Given the description of an element on the screen output the (x, y) to click on. 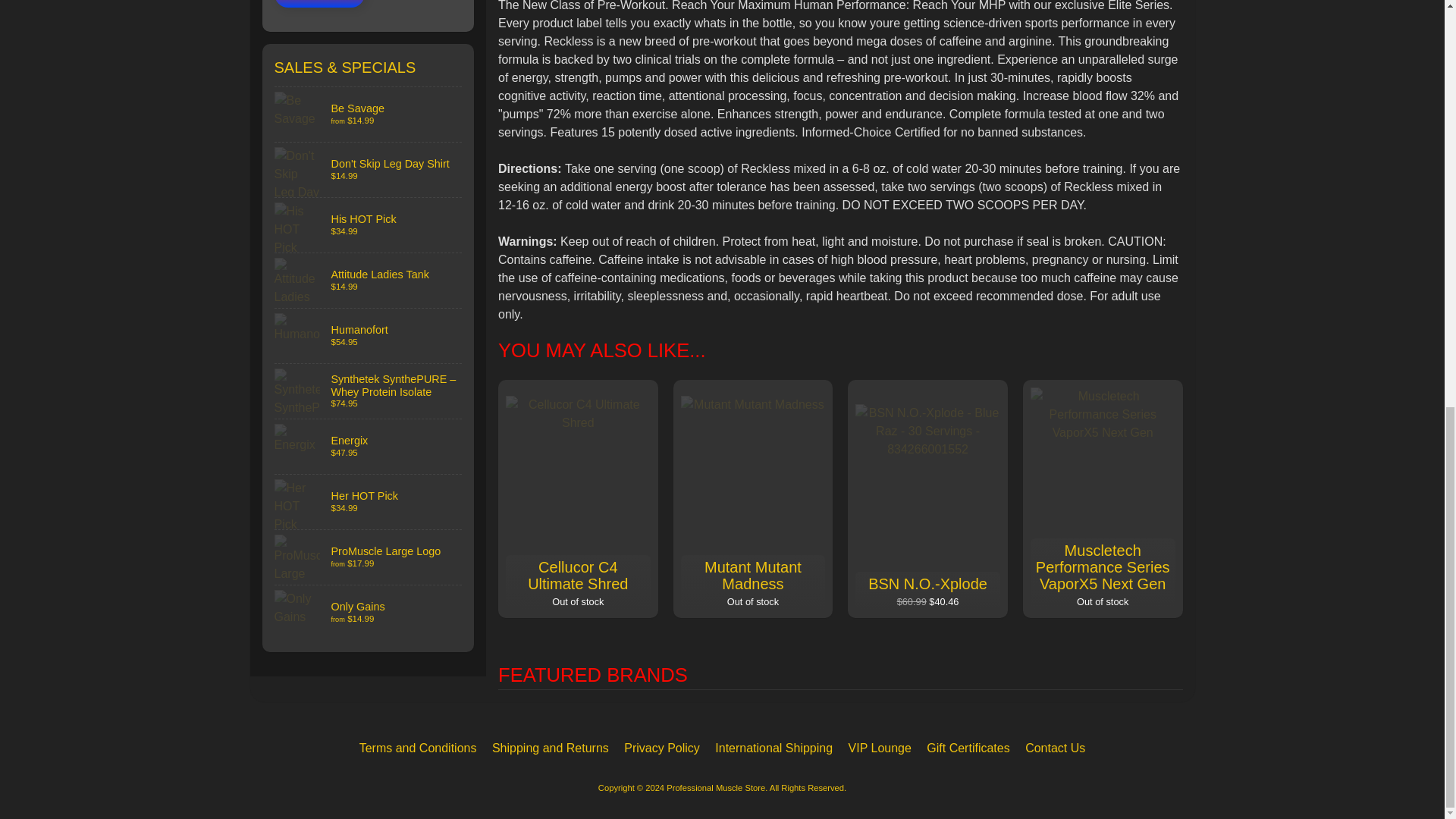
Her HOT Pick (369, 502)
Don't Skip Leg Day Shirt (369, 169)
Energix (369, 446)
FEATURED BRANDS (839, 675)
Be Savage (369, 113)
FEATURED BRANDS (839, 664)
Humanofort (369, 335)
Attitude Ladies Tank (369, 280)
ProMuscle Large Logo (369, 556)
Only Gains (369, 612)
His HOT Pick (369, 225)
